Given the description of an element on the screen output the (x, y) to click on. 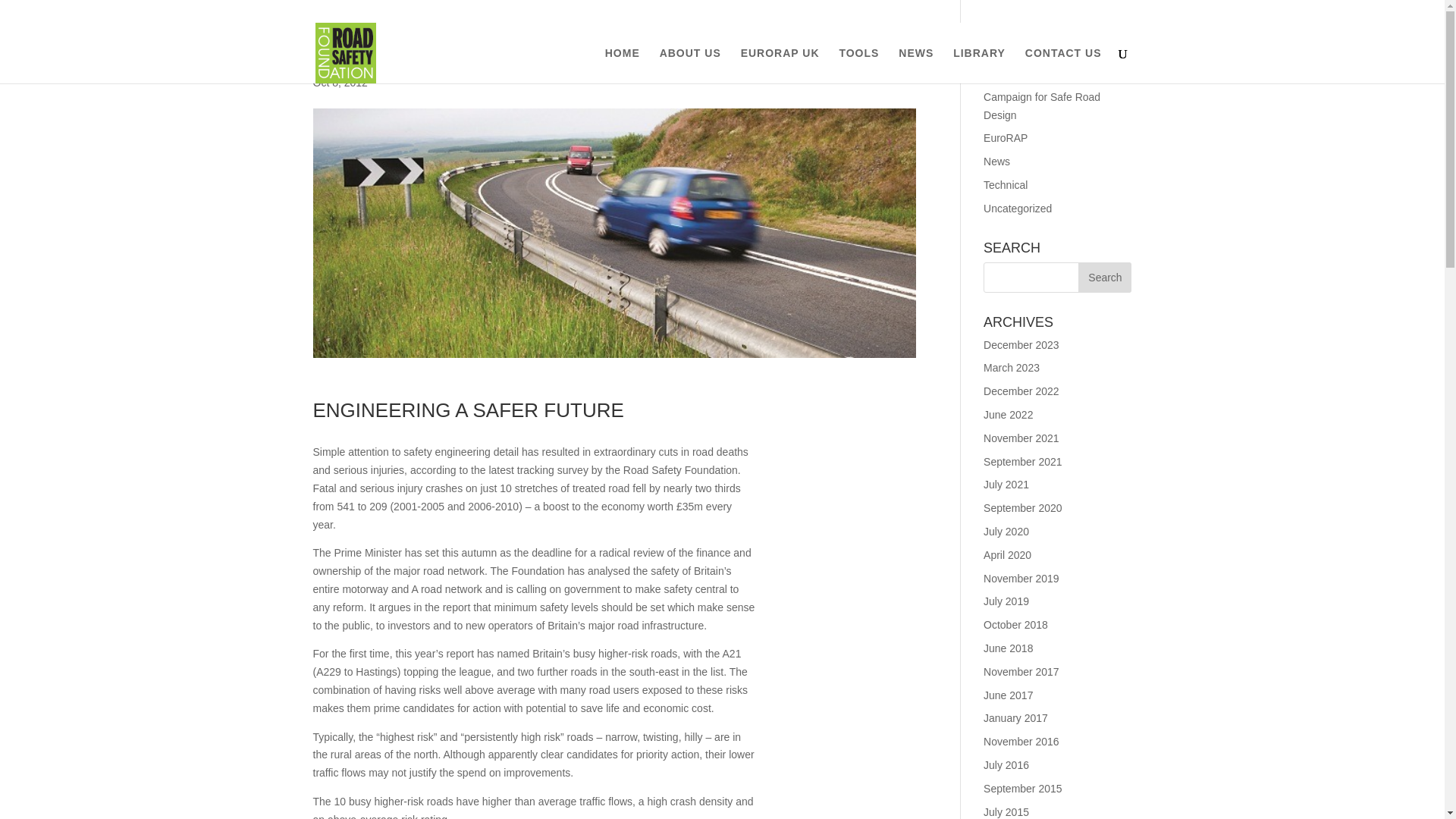
ABOUT US (689, 65)
Awards (1000, 73)
Campaign for Safe Road Design (1042, 105)
EuroRAP (1005, 137)
TOOLS (858, 65)
CONTACT US (1063, 65)
Search (1104, 277)
LIBRARY (979, 65)
HOME (622, 65)
Technical (1005, 184)
